Given the description of an element on the screen output the (x, y) to click on. 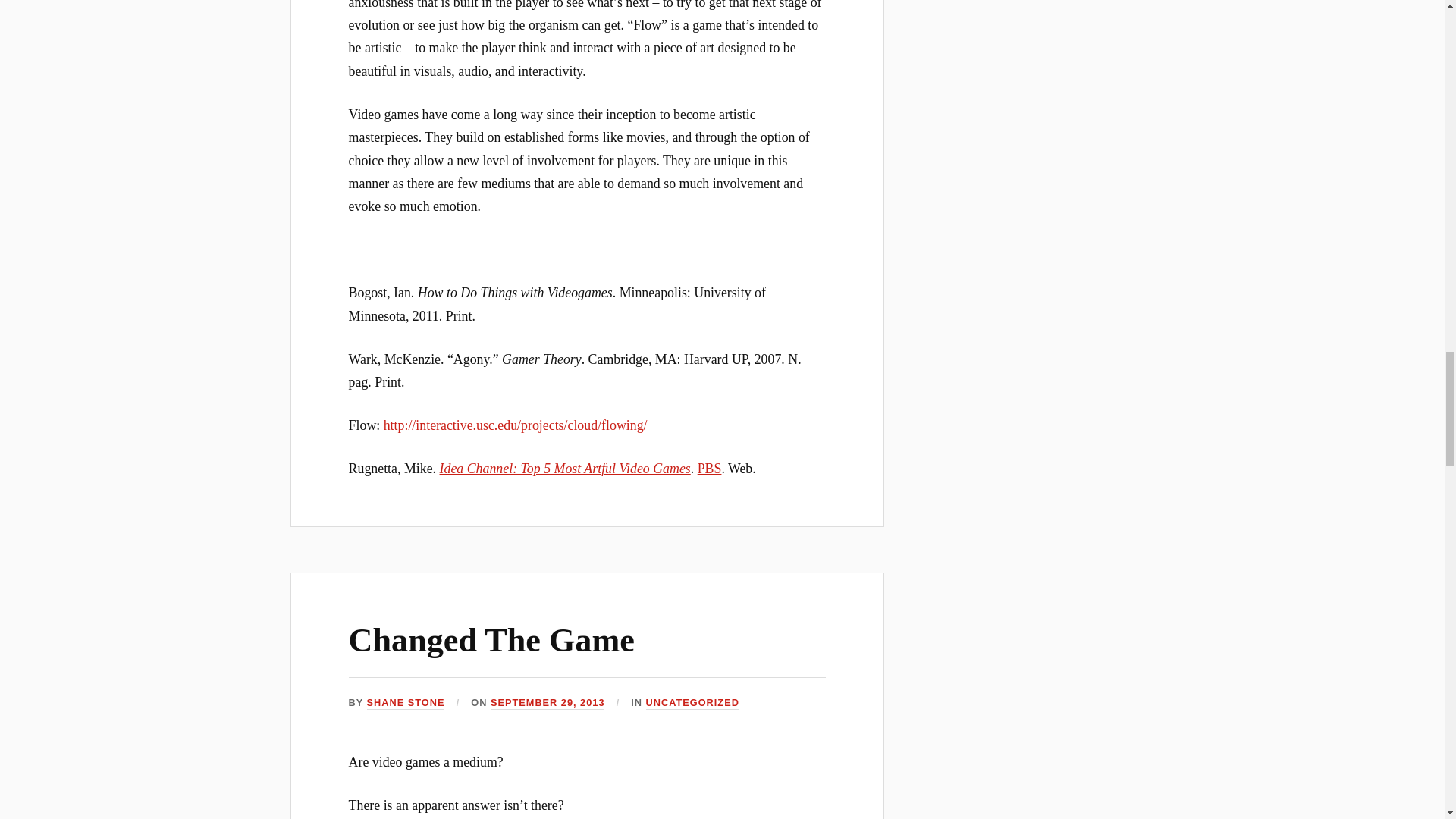
SHANE STONE (405, 703)
PBS (709, 468)
PBS (709, 468)
UNCATEGORIZED (692, 703)
Posts by Shane Stone (405, 703)
Changed The Game (491, 640)
Idea Channel: Top 5 Most Artful Video Games (564, 468)
SEPTEMBER 29, 2013 (547, 703)
